Given the description of an element on the screen output the (x, y) to click on. 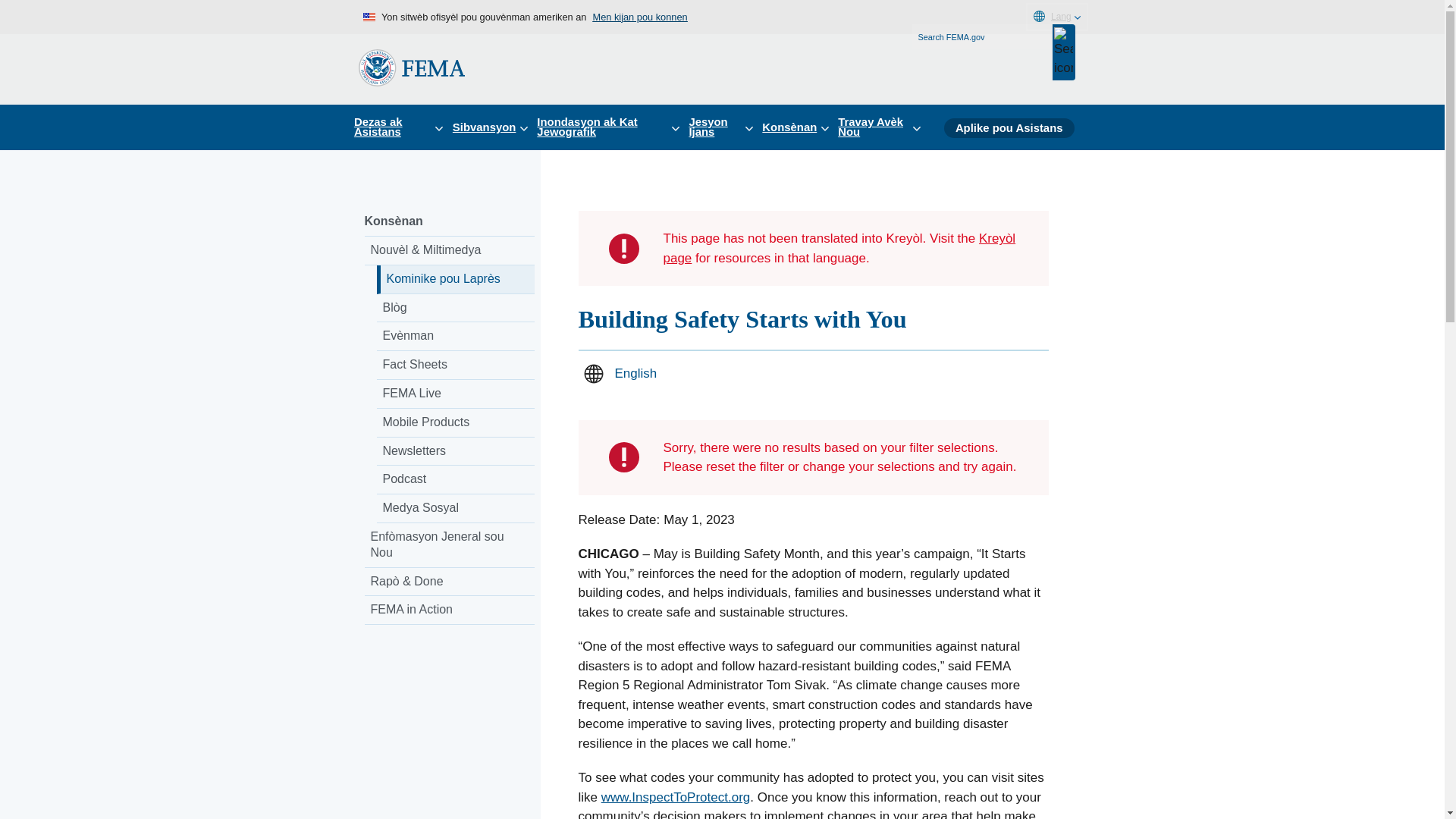
FEMA in Action (449, 610)
Fact Sheets (454, 365)
Inondasyon ak Kat Jewografik (612, 126)
Mobile Products (454, 422)
www.InspectToProtect.org (676, 797)
Sibvansyon (494, 126)
Men kijan pou konnen (639, 17)
Jesyon Ijans (724, 126)
Podcast (454, 480)
FEMA logo (411, 67)
